Given the description of an element on the screen output the (x, y) to click on. 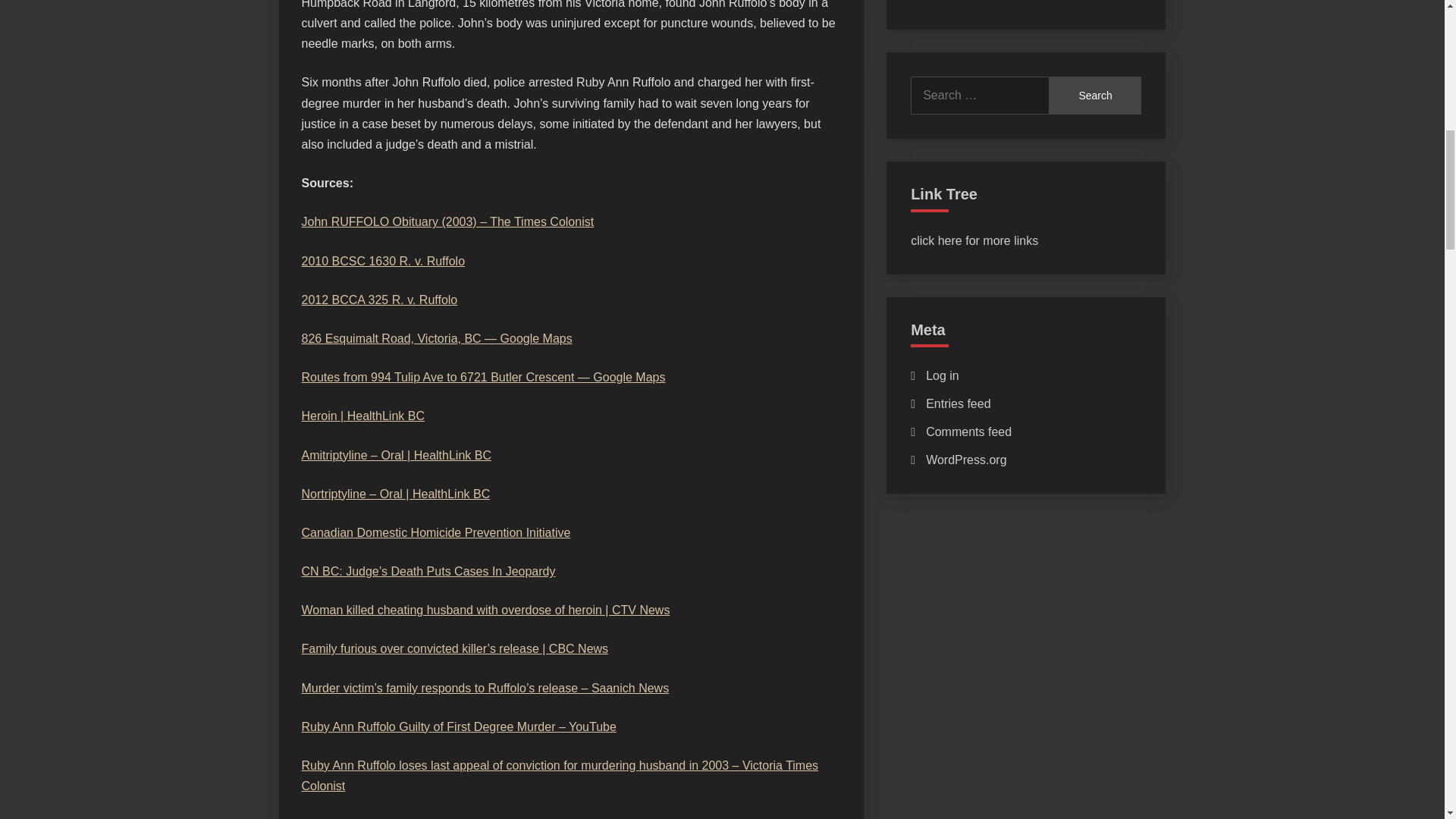
Search (1095, 95)
2012 BCCA 325 R. v. Ruffolo (379, 299)
Canadian Domestic Homicide Prevention Initiative (435, 532)
Search (1095, 95)
2010 BCSC 1630 R. v. Ruffolo (383, 260)
